Given the description of an element on the screen output the (x, y) to click on. 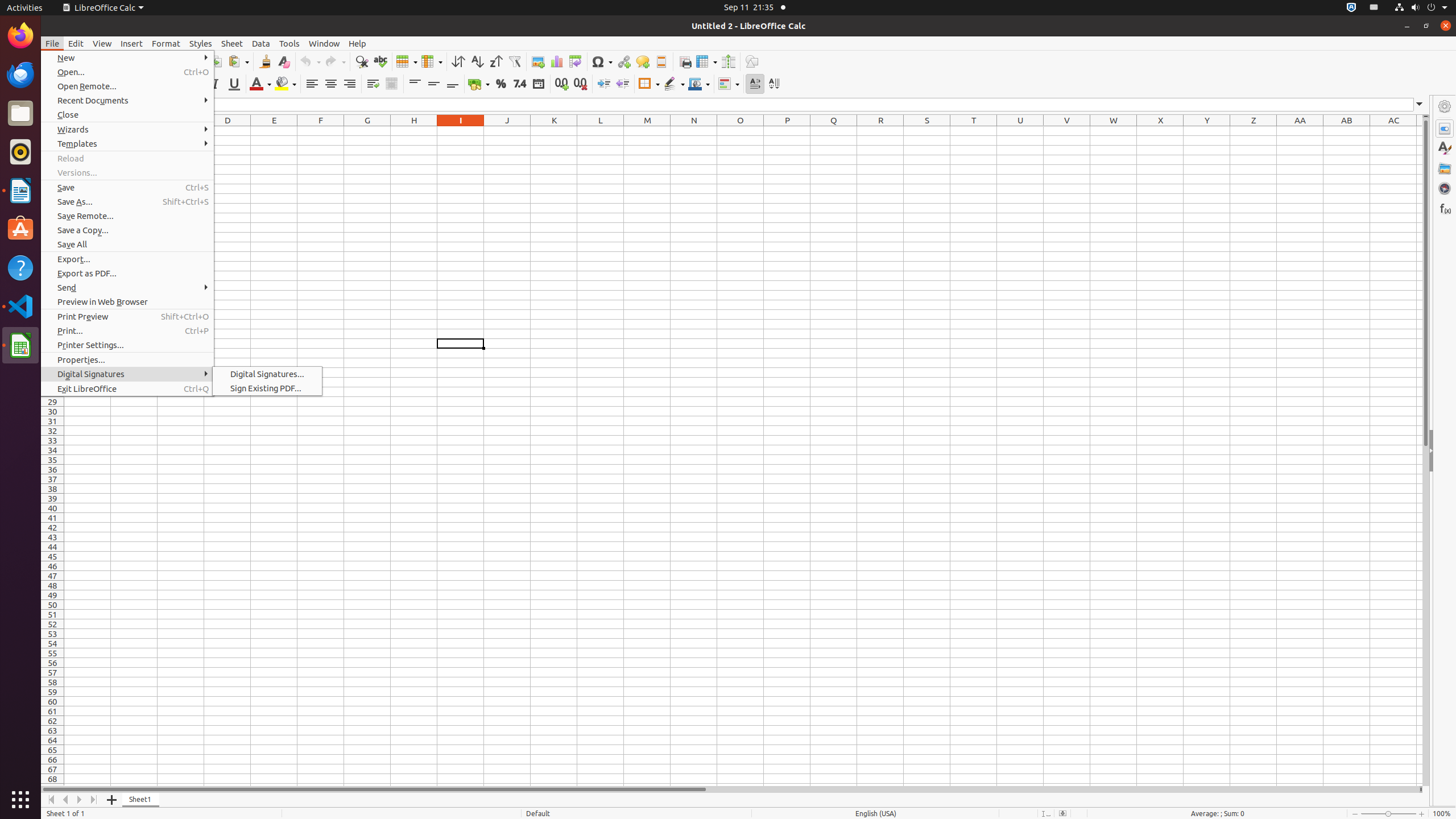
Gallery Element type: radio-button (1444, 168)
Freeze Rows and Columns Element type: push-button (705, 61)
J1 Element type: table-cell (507, 130)
Z1 Element type: table-cell (1253, 130)
N1 Element type: table-cell (693, 130)
